Given the description of an element on the screen output the (x, y) to click on. 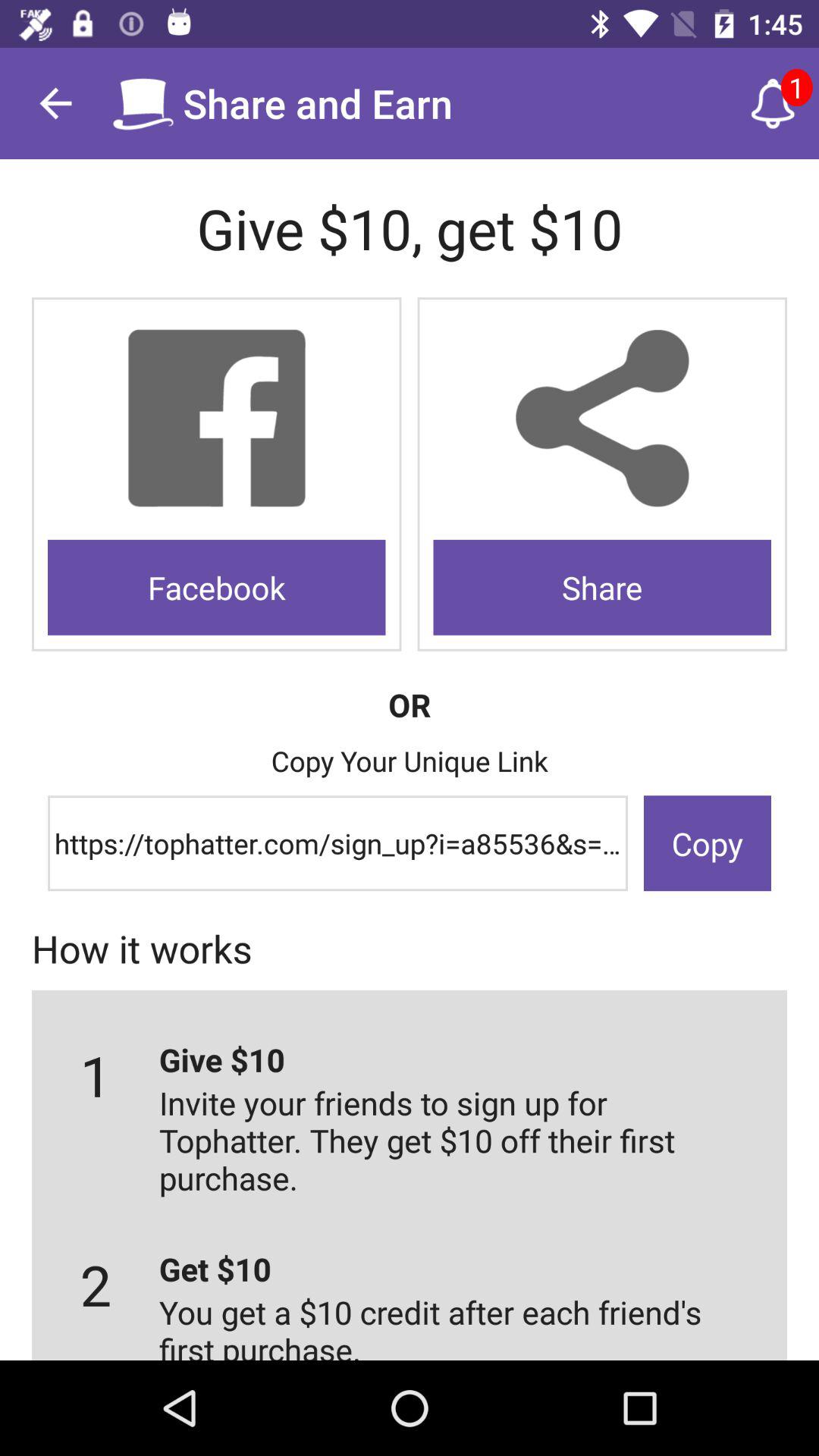
launch item above give 10 get (55, 103)
